Given the description of an element on the screen output the (x, y) to click on. 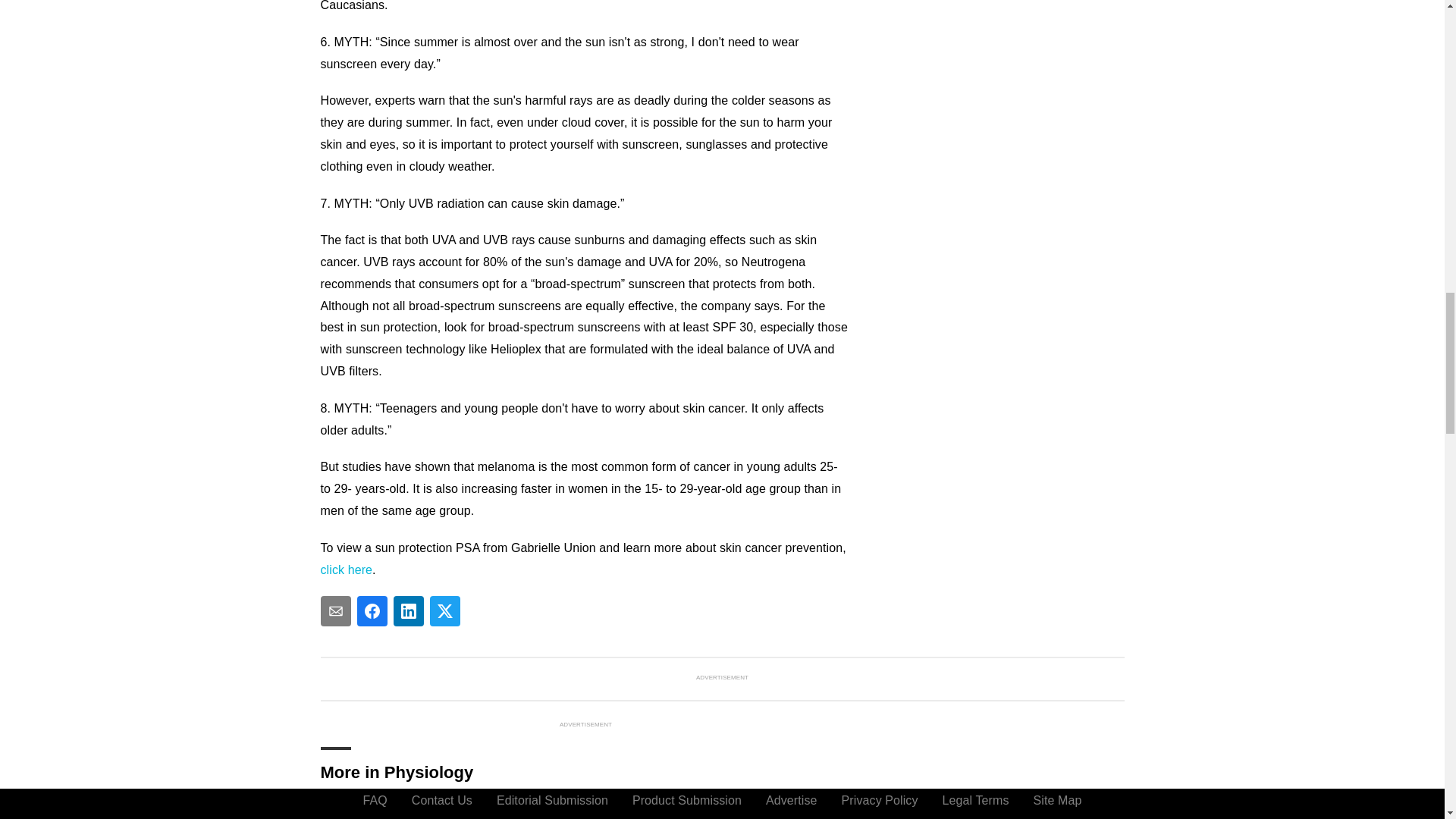
Share To twitter (444, 611)
Share To linkedin (408, 611)
Share To email (335, 611)
Share To facebook (371, 611)
